Given the description of an element on the screen output the (x, y) to click on. 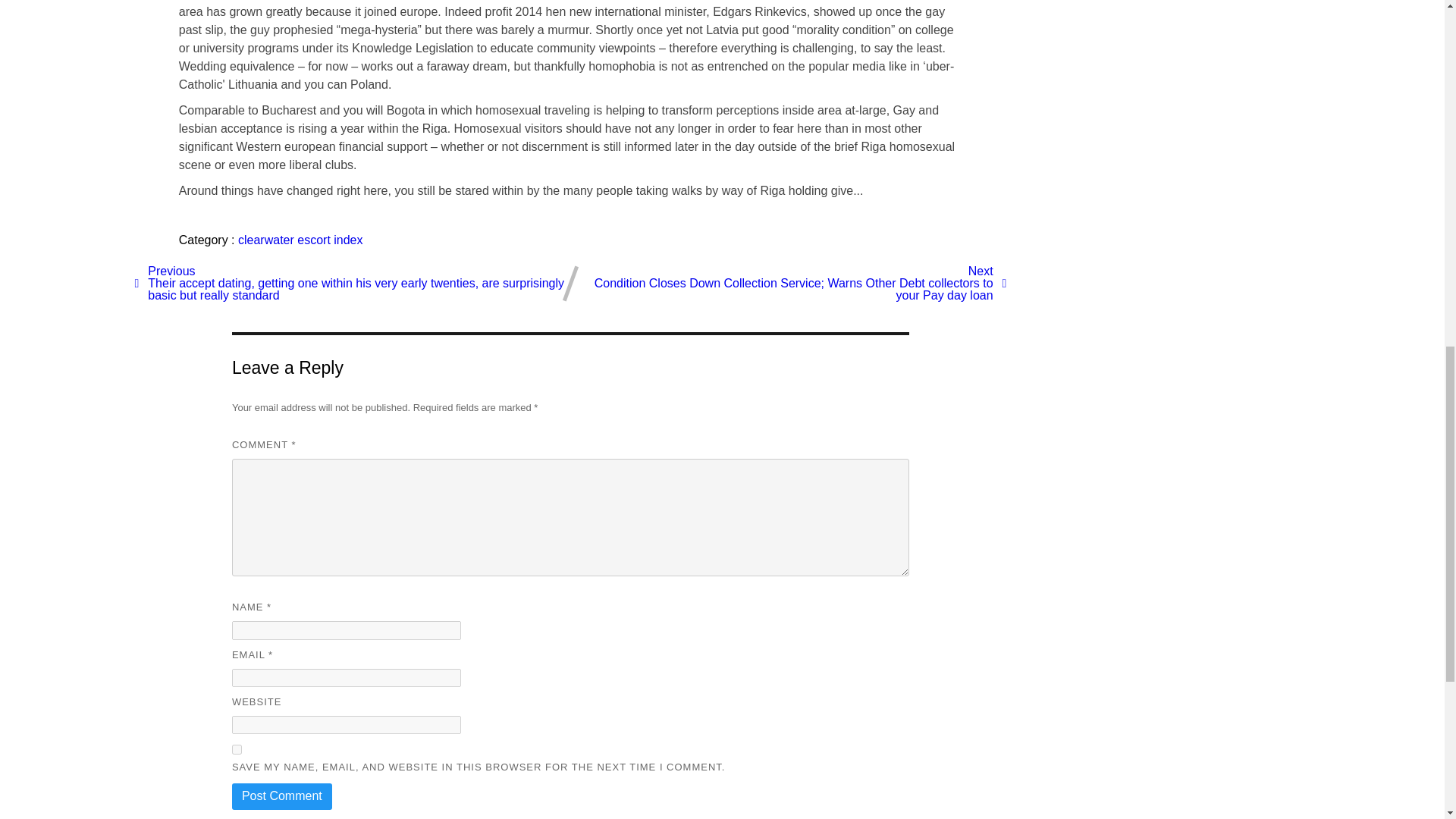
clearwater escort index (300, 239)
Post Comment (281, 795)
Post Comment (281, 795)
yes (236, 749)
